Given the description of an element on the screen output the (x, y) to click on. 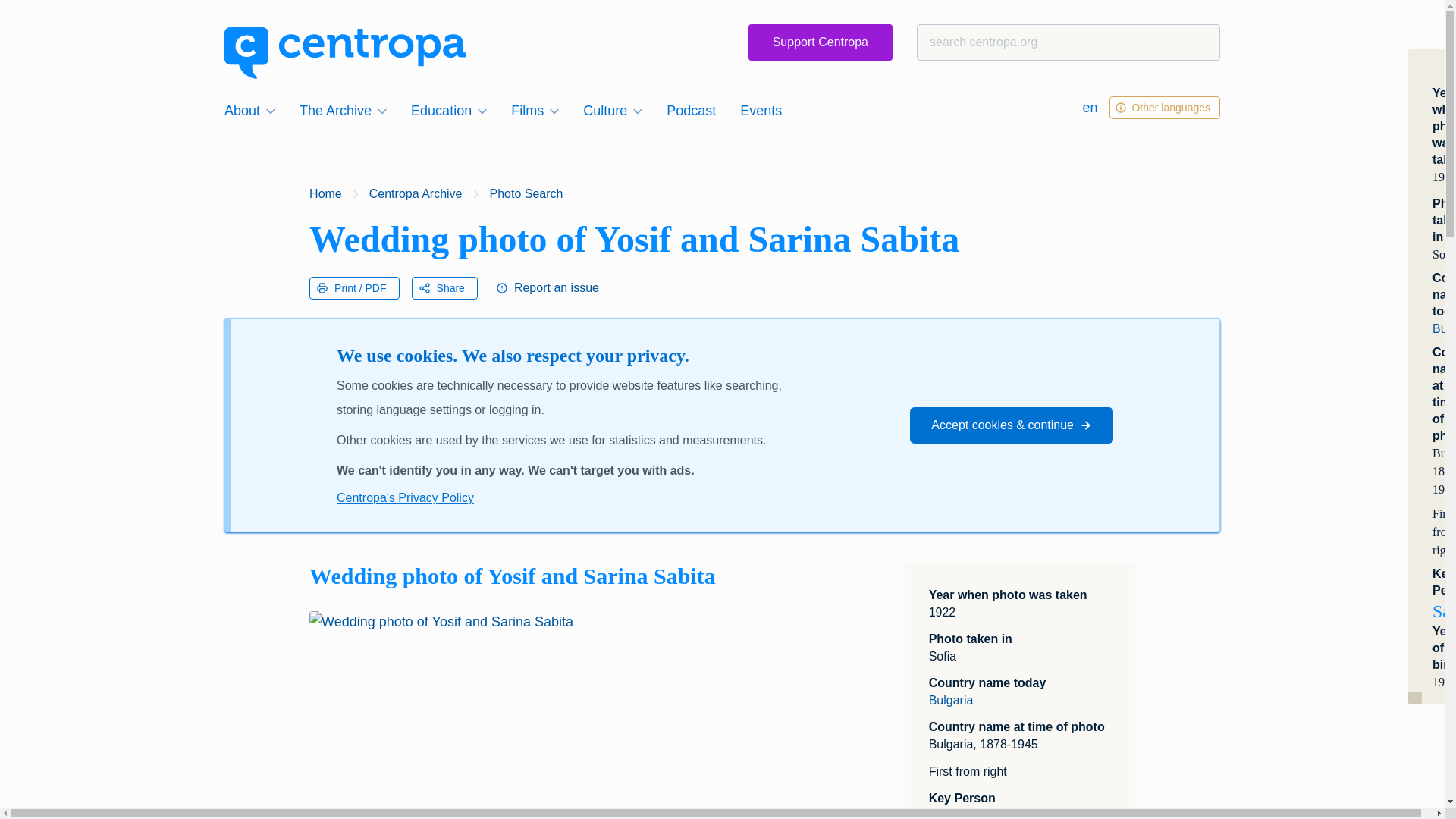
Support Centropa (820, 42)
Search (40, 18)
Support Centropa (820, 42)
Wedding photo of Yosif and Sarina Sabita (551, 714)
The Archive (343, 110)
Podcast (691, 110)
Education (448, 110)
Culture (611, 110)
Films (534, 110)
